Given the description of an element on the screen output the (x, y) to click on. 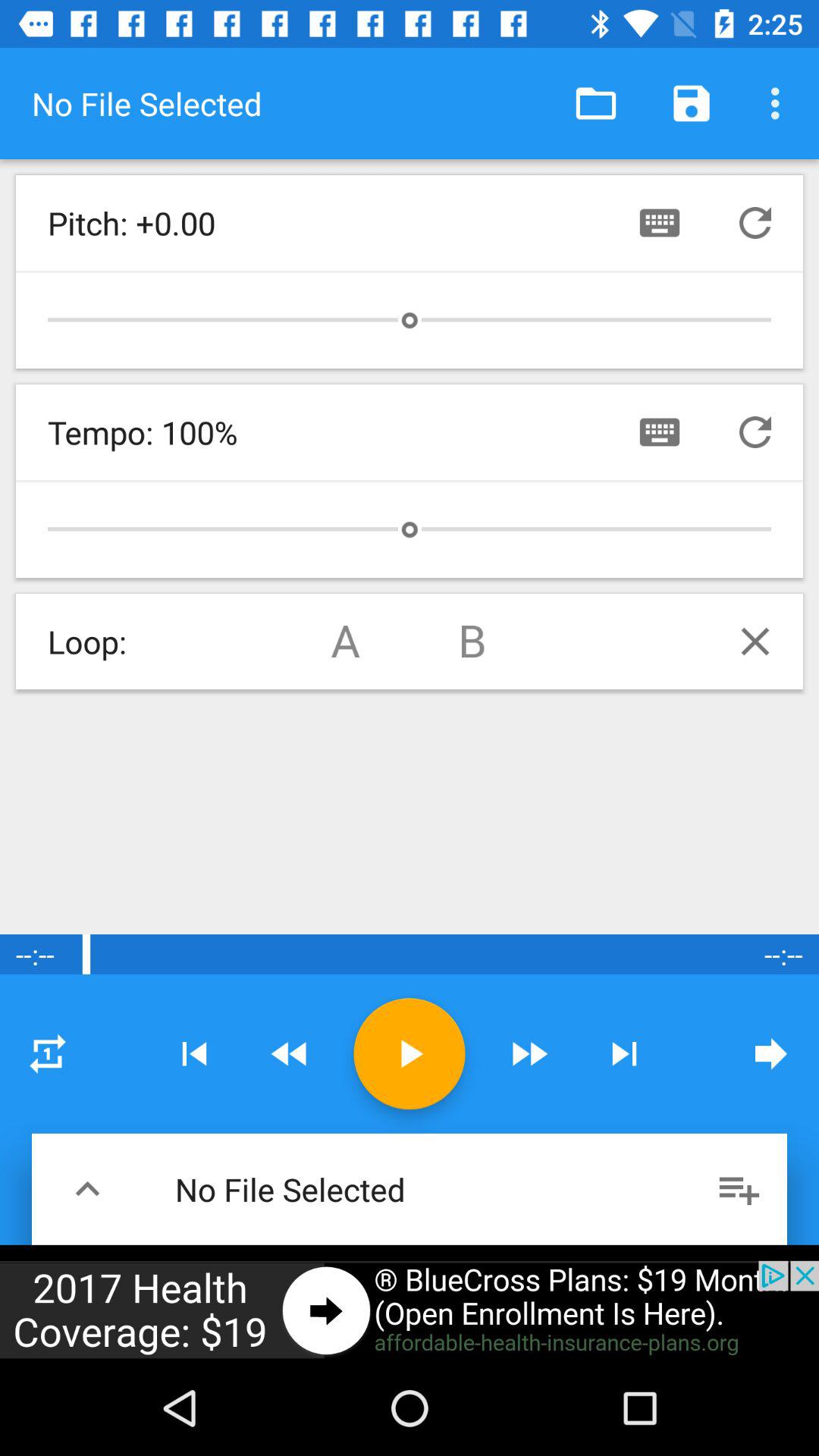
access keyboard (659, 432)
